Given the description of an element on the screen output the (x, y) to click on. 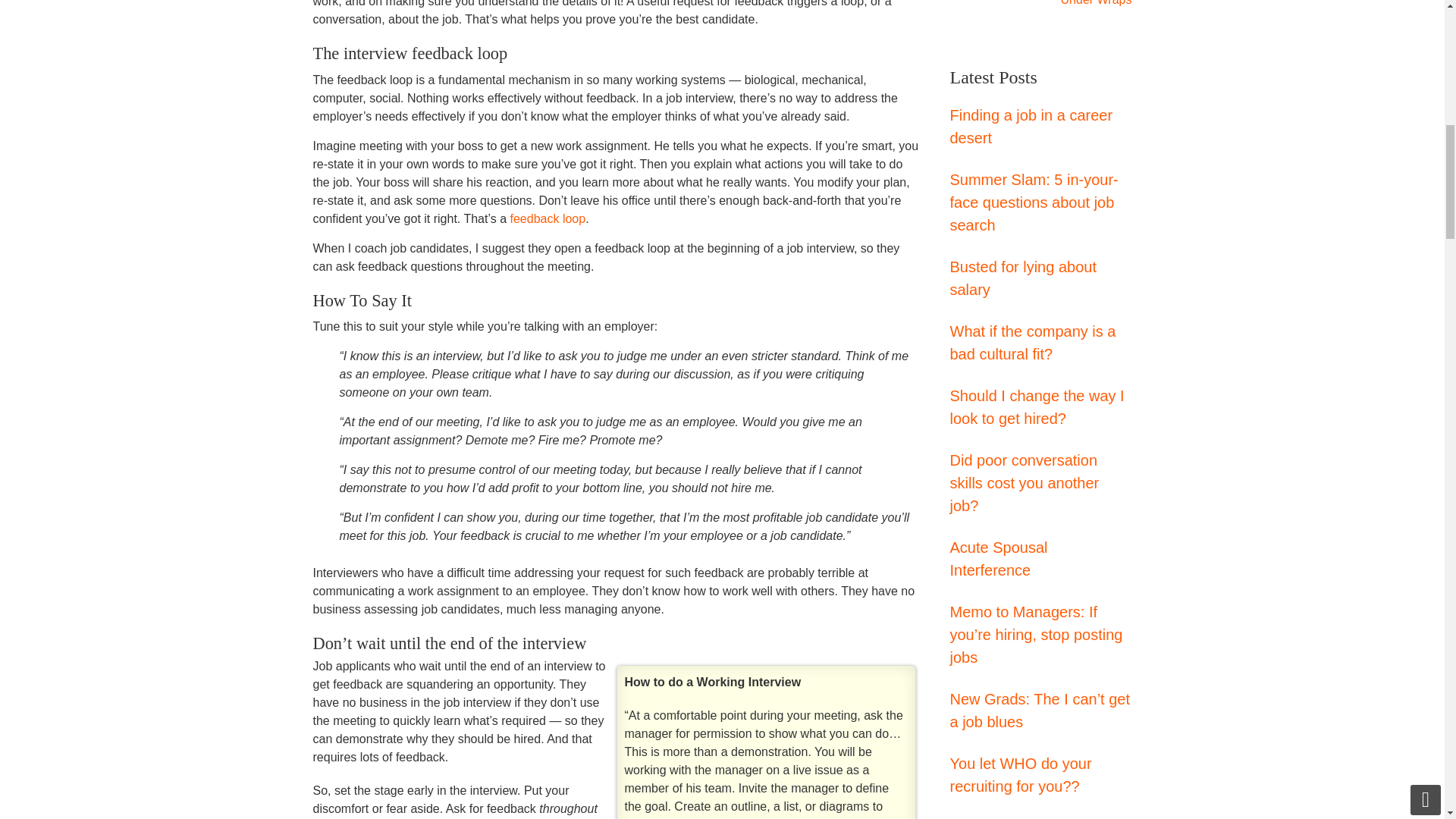
feedback loop (548, 218)
